Given the description of an element on the screen output the (x, y) to click on. 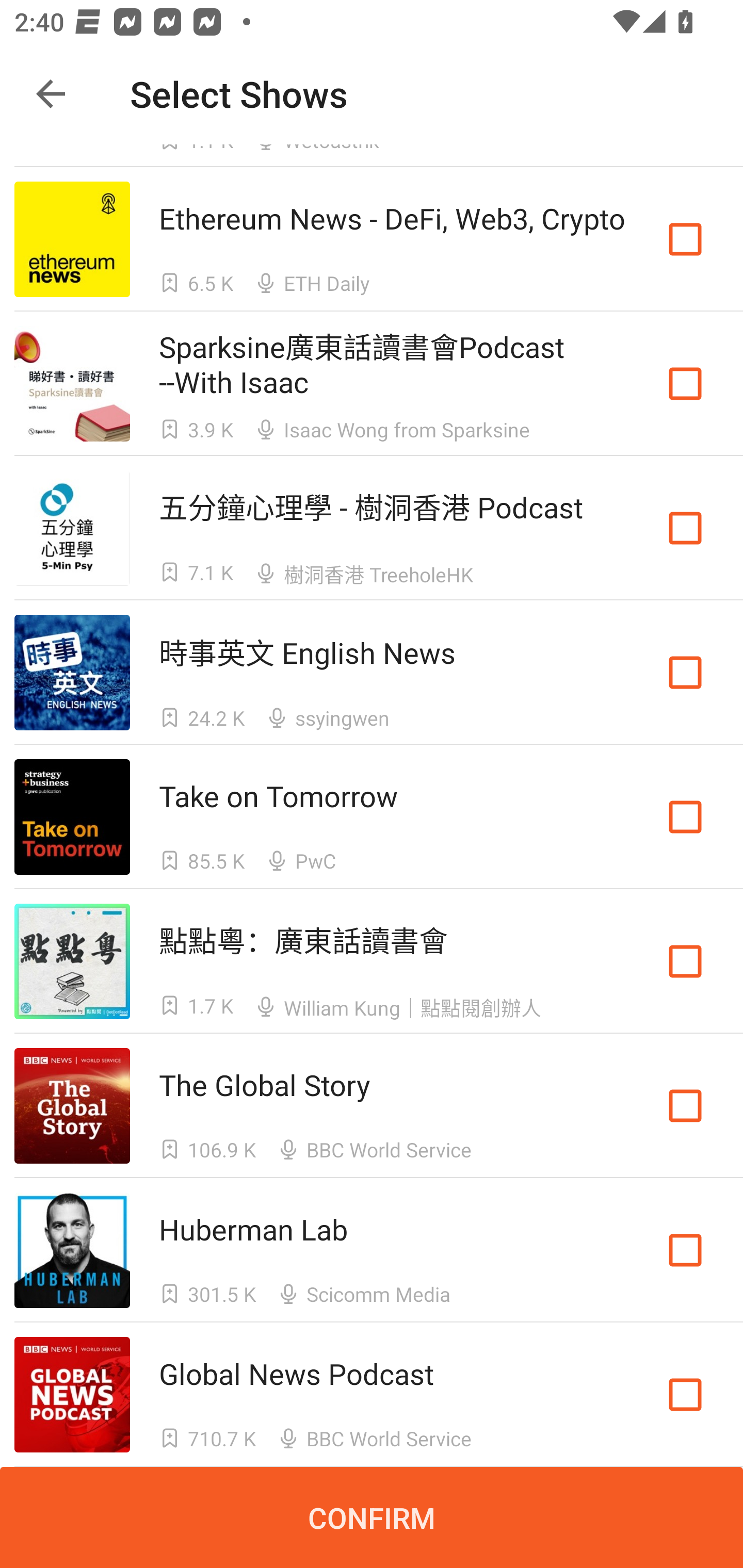
Navigate up (50, 93)
Take on Tomorrow Take on Tomorrow  85.5 K  PwC (371, 816)
CONFIRM (371, 1517)
